Given the description of an element on the screen output the (x, y) to click on. 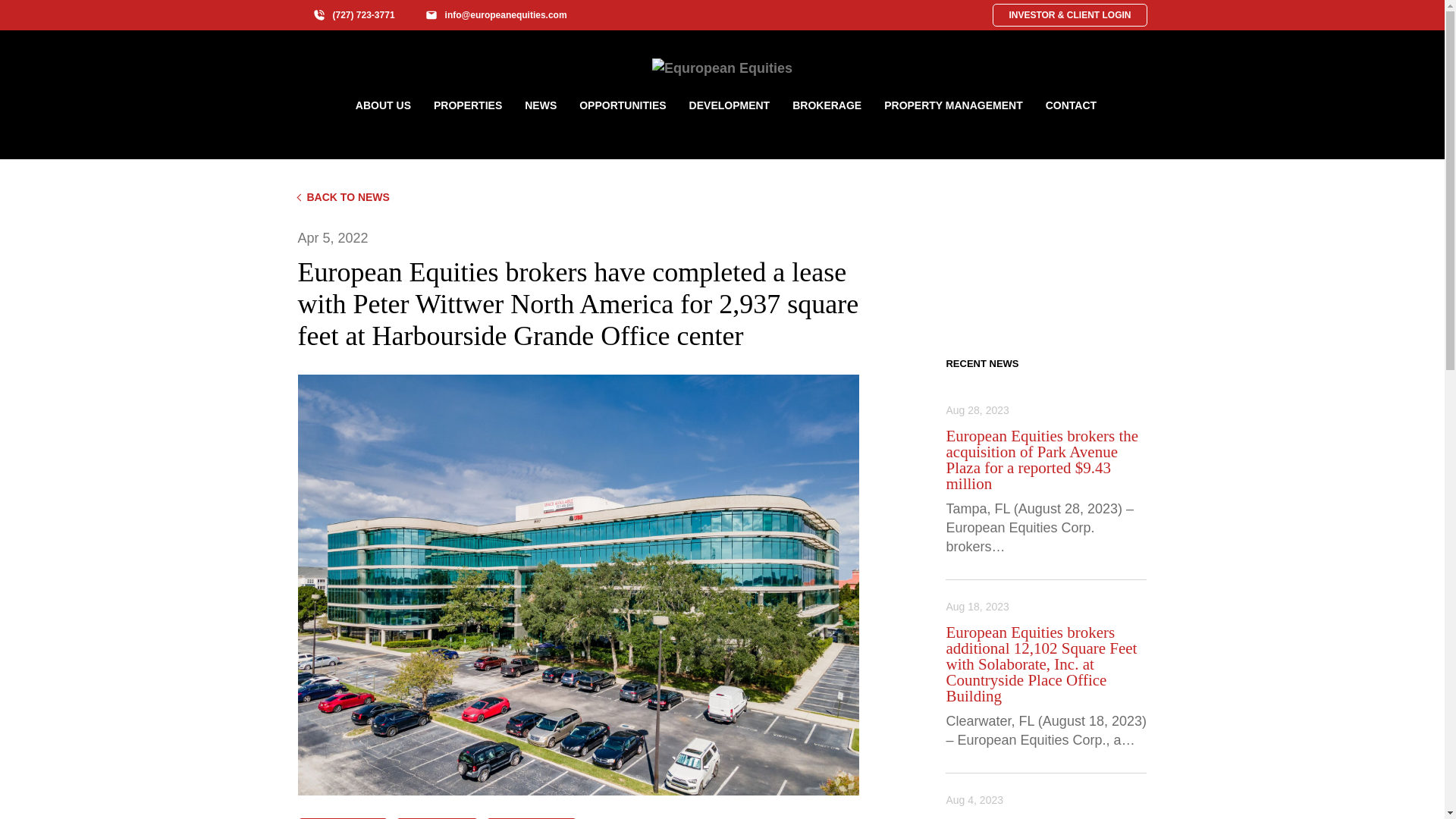
NEWS (540, 105)
DEVELOPMENT (729, 105)
BACK TO NEWS (722, 197)
OPPORTUNITIES (622, 105)
ABOUT US (383, 105)
BROKERAGE (826, 105)
PROPERTY MANAGEMENT (953, 105)
CONTACT (1070, 105)
PROPERTIES (467, 105)
